Given the description of an element on the screen output the (x, y) to click on. 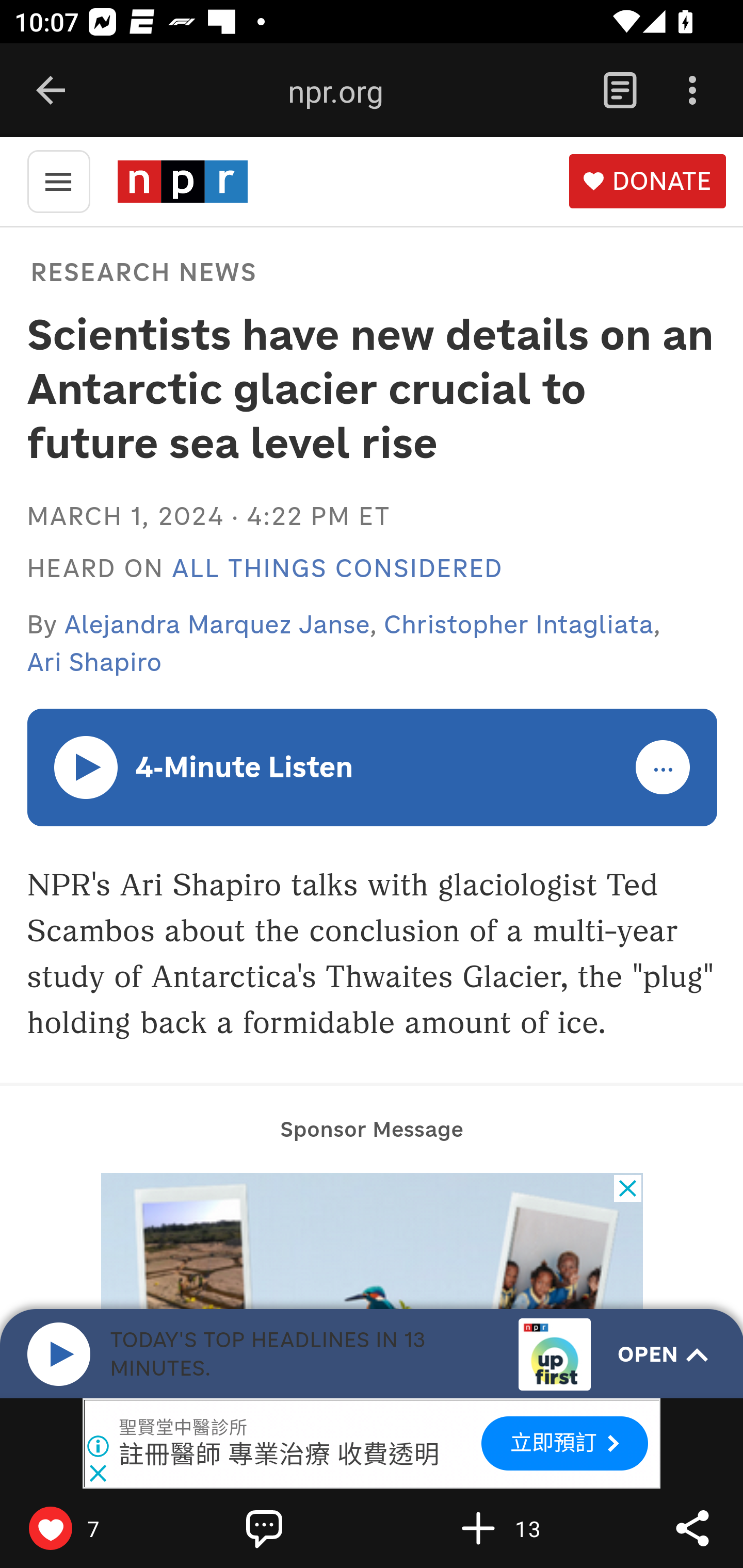
Back (50, 90)
Reader View (619, 90)
Options (692, 90)
Open Navigation Menu (58, 180)
DONATE (646, 181)
NPR logo (181, 180)
RESEARCH NEWS (142, 271)
MARCH 1, 2024 · 4:22 PM ET (208, 515)
ALL THINGS CONSIDERED (337, 568)
Alejandra Marquez Janse (217, 623)
Christopher Intagliata (518, 623)
Ari Shapiro (93, 662)
LISTEN· 4:24 (86, 766)
Toggle more options (663, 768)
聖賢堂中醫診所 (183, 1427)
立即預訂 (564, 1442)
註冊醫師 專業治療 收費透明 (279, 1453)
Like 7 (93, 1528)
Write a comment… (307, 1528)
Flip into Magazine 13 (521, 1528)
Share (692, 1528)
